Given the description of an element on the screen output the (x, y) to click on. 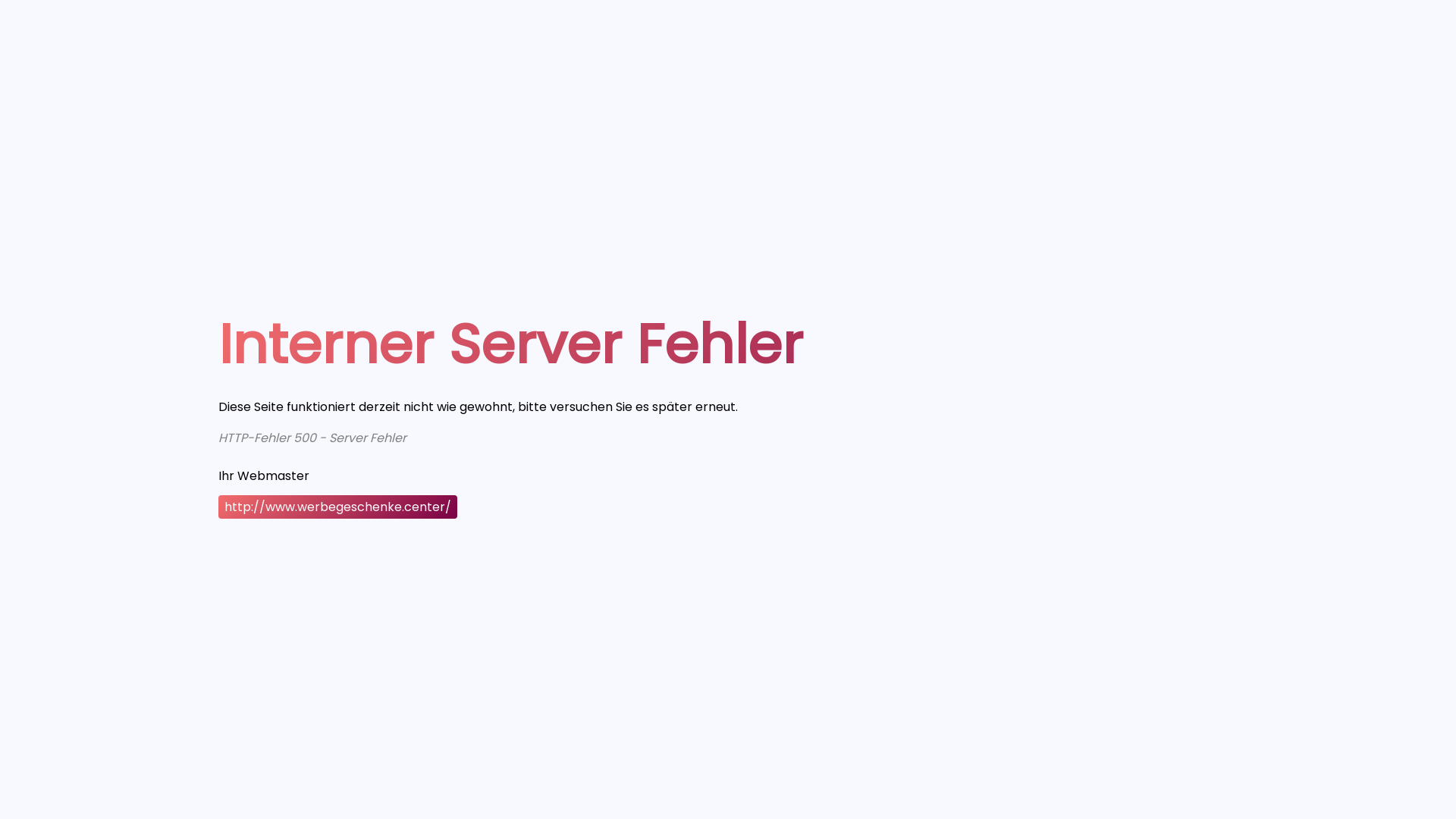
http://www.werbegeschenke.center/ Element type: text (337, 505)
